Given the description of an element on the screen output the (x, y) to click on. 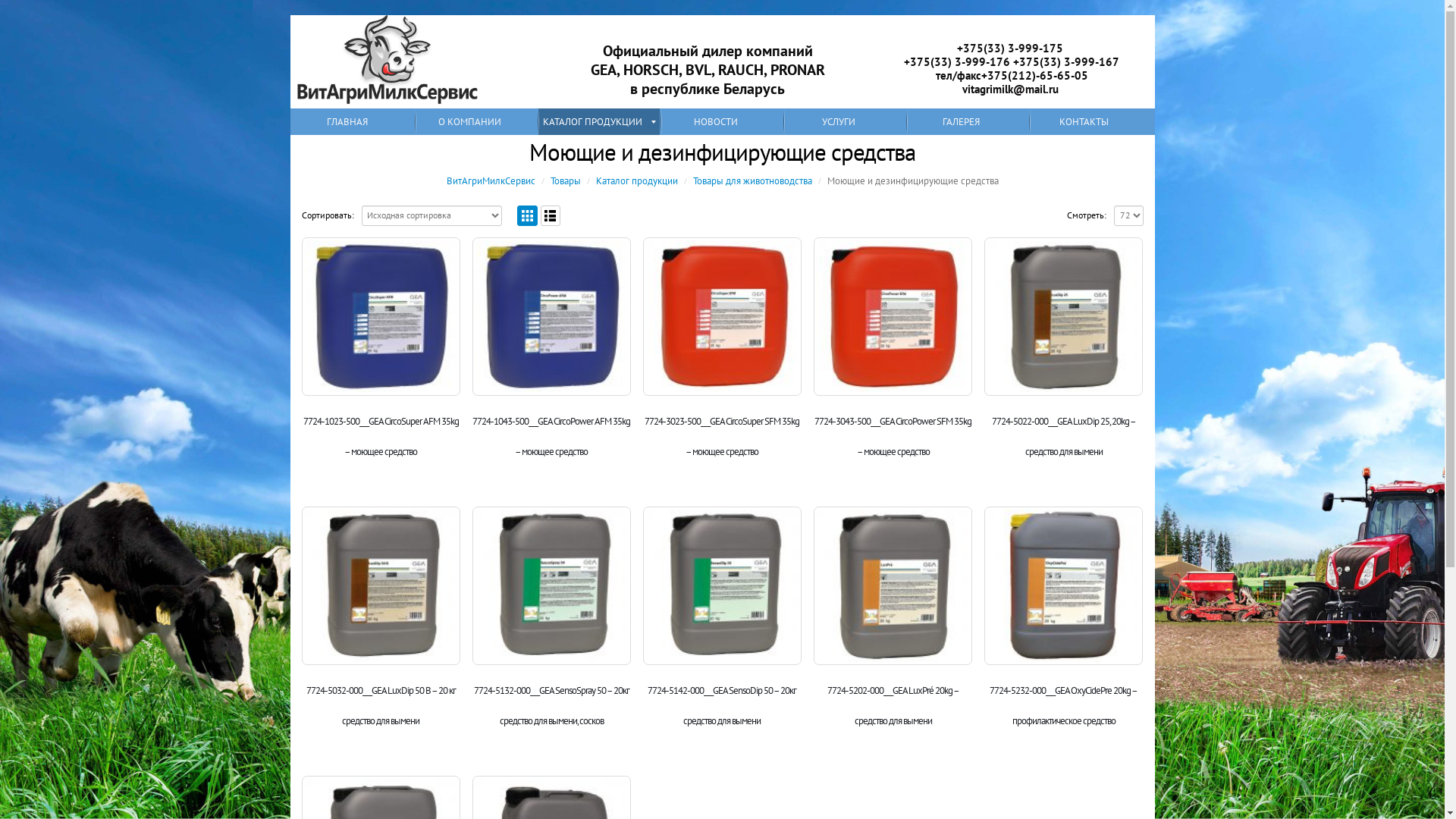
+375(33) 3-999-175 Element type: text (1010, 47)
vitagrimilk@mail.ru  Element type: text (1011, 88)
+375(33) 3-999-167 Element type: text (1066, 61)
Grid View Element type: hover (527, 215)
List View Element type: hover (550, 215)
+375(212)-65-65-05 Element type: text (1034, 75)
+375(33) 3-999-176 Element type: text (956, 61)
